Given the description of an element on the screen output the (x, y) to click on. 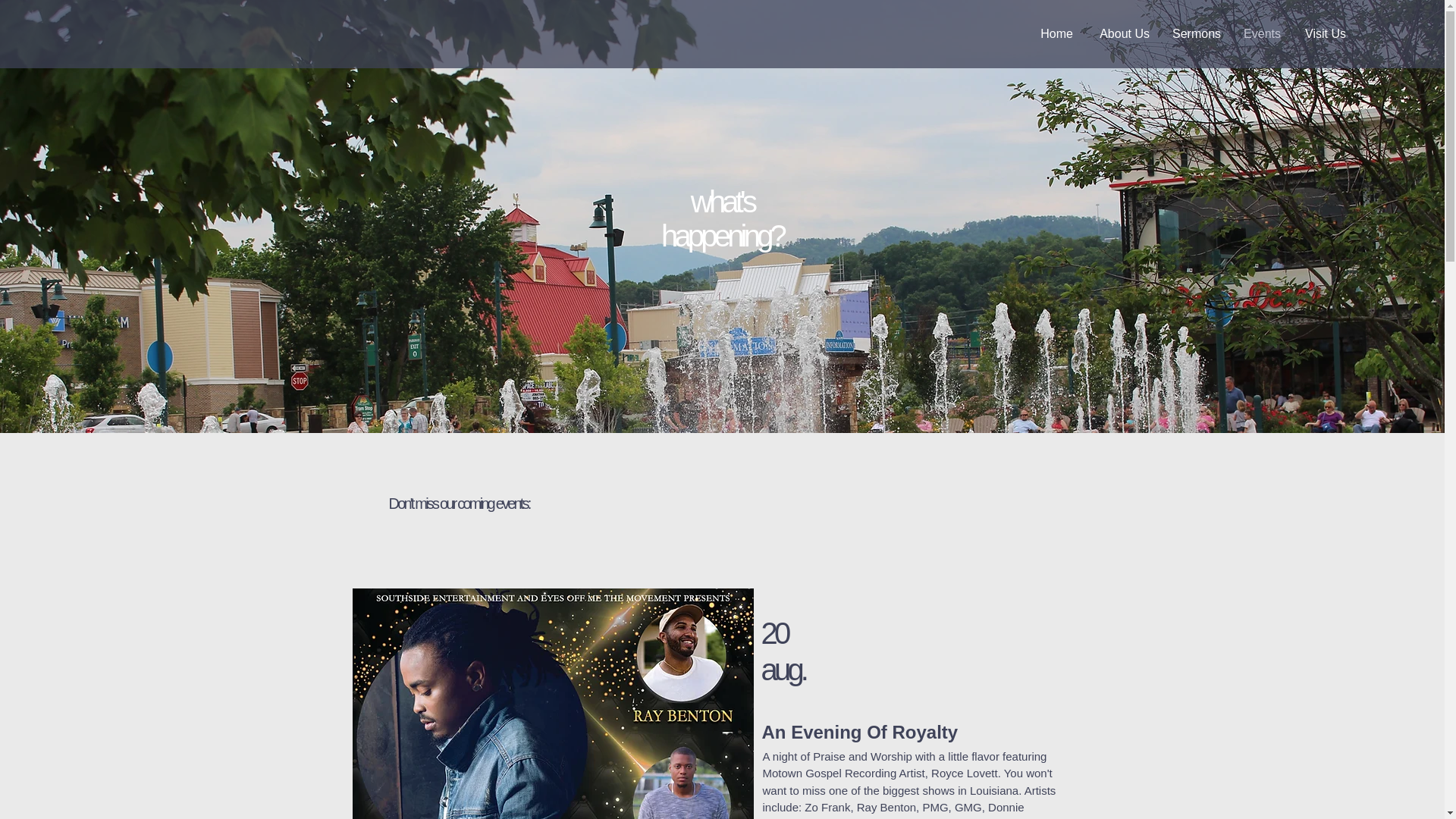
Sermons (1195, 34)
Events (1261, 34)
Home (1055, 34)
Visit Us (1324, 34)
About Us (1122, 34)
